Given the description of an element on the screen output the (x, y) to click on. 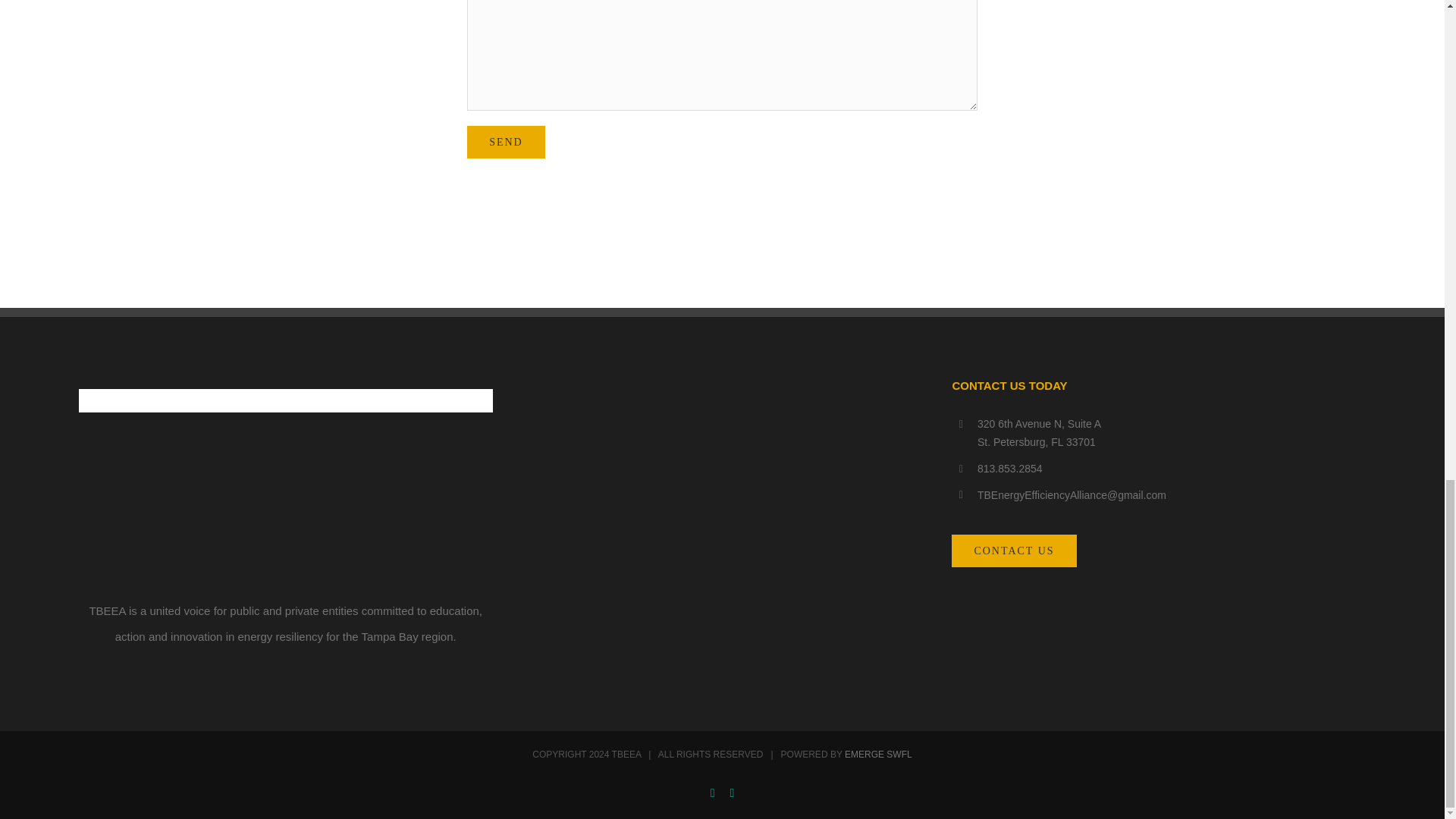
Send (505, 142)
CONTACT US (1013, 550)
EMERGE SWFL (878, 754)
Send (505, 142)
